Given the description of an element on the screen output the (x, y) to click on. 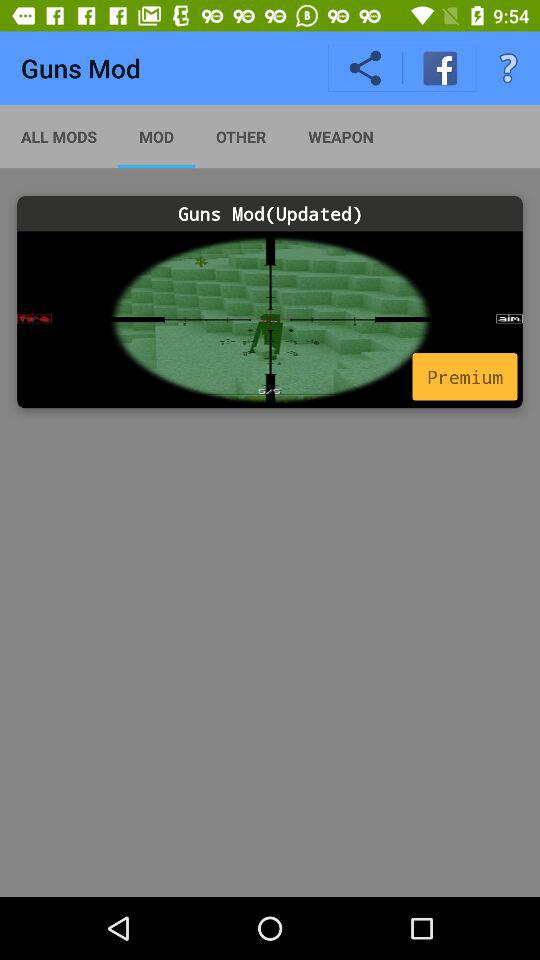
flip to the weapon item (340, 136)
